Given the description of an element on the screen output the (x, y) to click on. 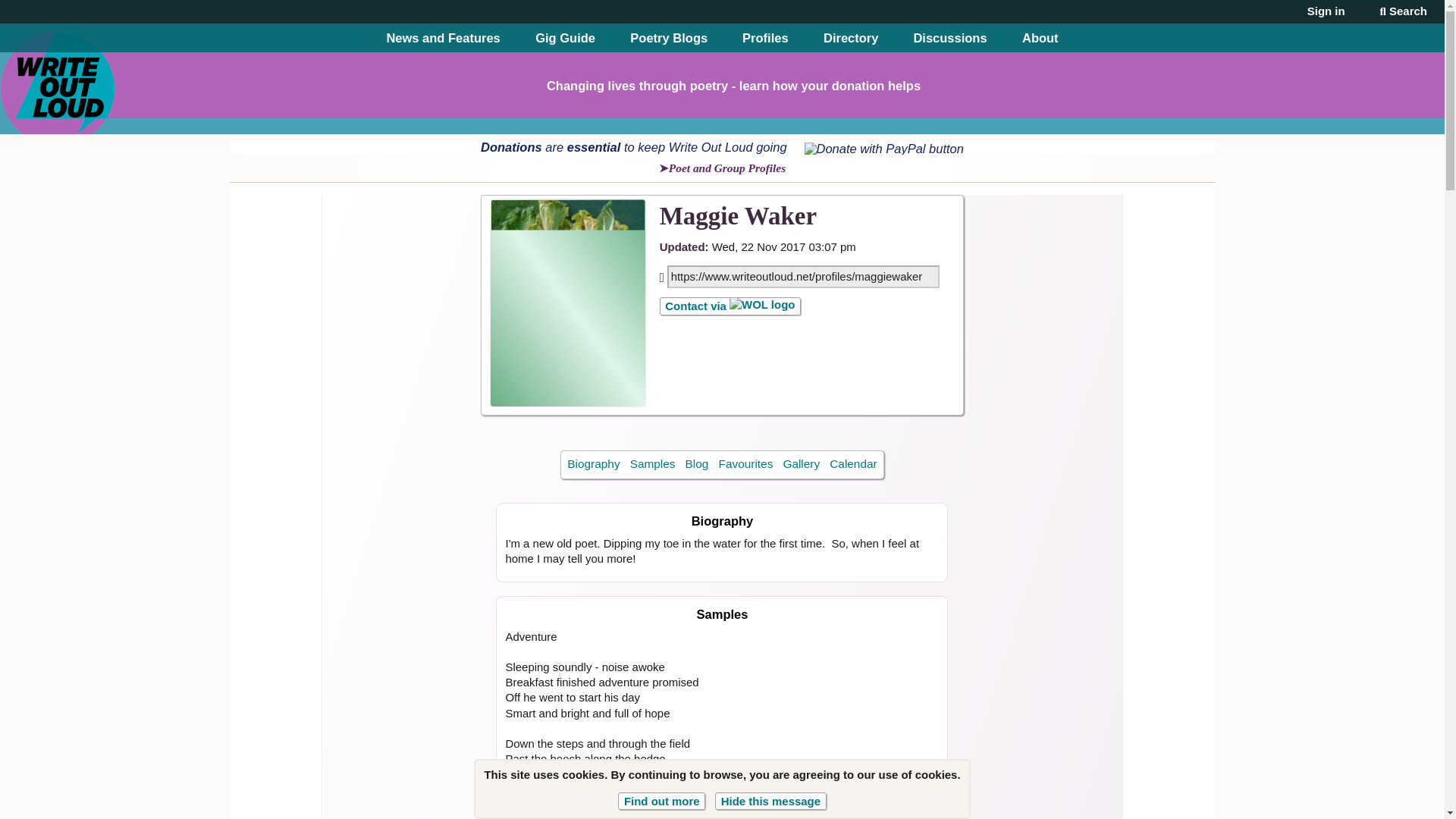
Samples (652, 464)
Favourites (745, 464)
About (1040, 38)
Profiles (765, 38)
PayPal - The safer, easier way to pay online! (882, 148)
Poet and Group Profiles (722, 167)
Sign in (1326, 10)
Gig Guide (565, 38)
Discussions (949, 38)
News and Features (442, 38)
Contact via (729, 305)
Directory (850, 38)
Poetry Blogs (668, 38)
Biography (593, 464)
Calendar (853, 464)
